Given the description of an element on the screen output the (x, y) to click on. 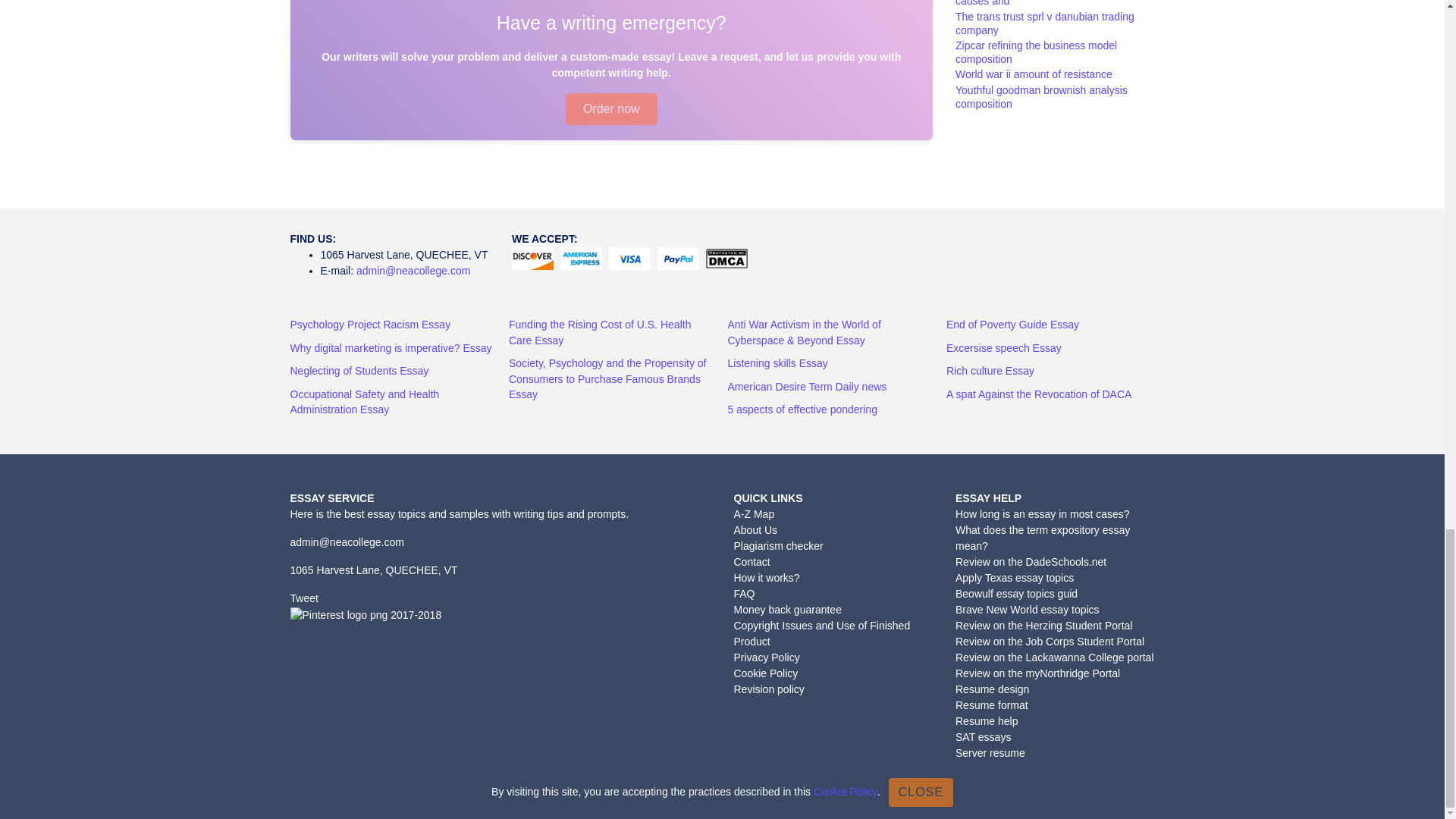
DMCA.com Protection Status (728, 259)
Order now (612, 109)
